Given the description of an element on the screen output the (x, y) to click on. 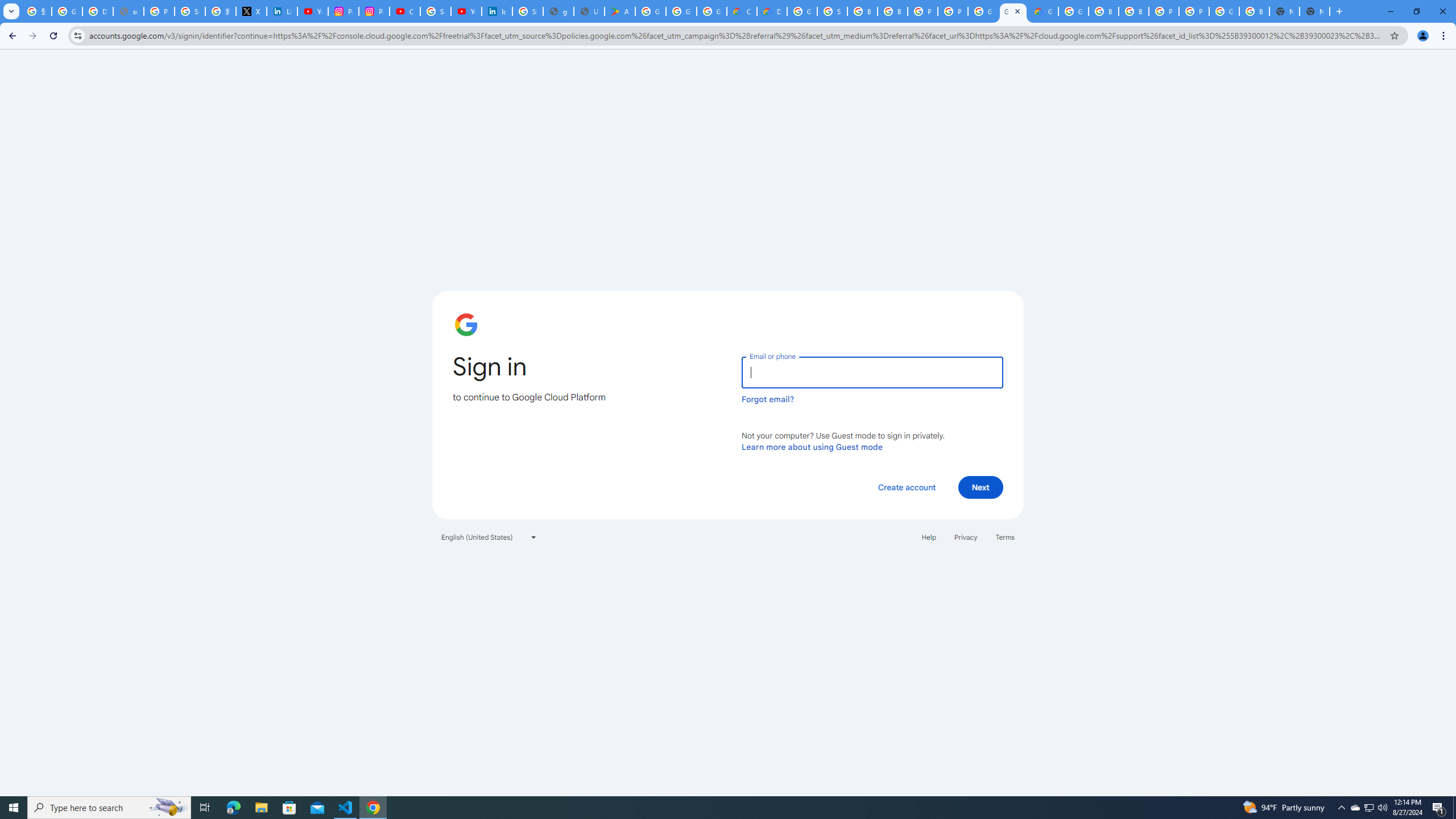
YouTube Content Monetization Policies - How YouTube Works (312, 11)
New Tab (1314, 11)
LinkedIn Privacy Policy (282, 11)
X (251, 11)
